Given the description of an element on the screen output the (x, y) to click on. 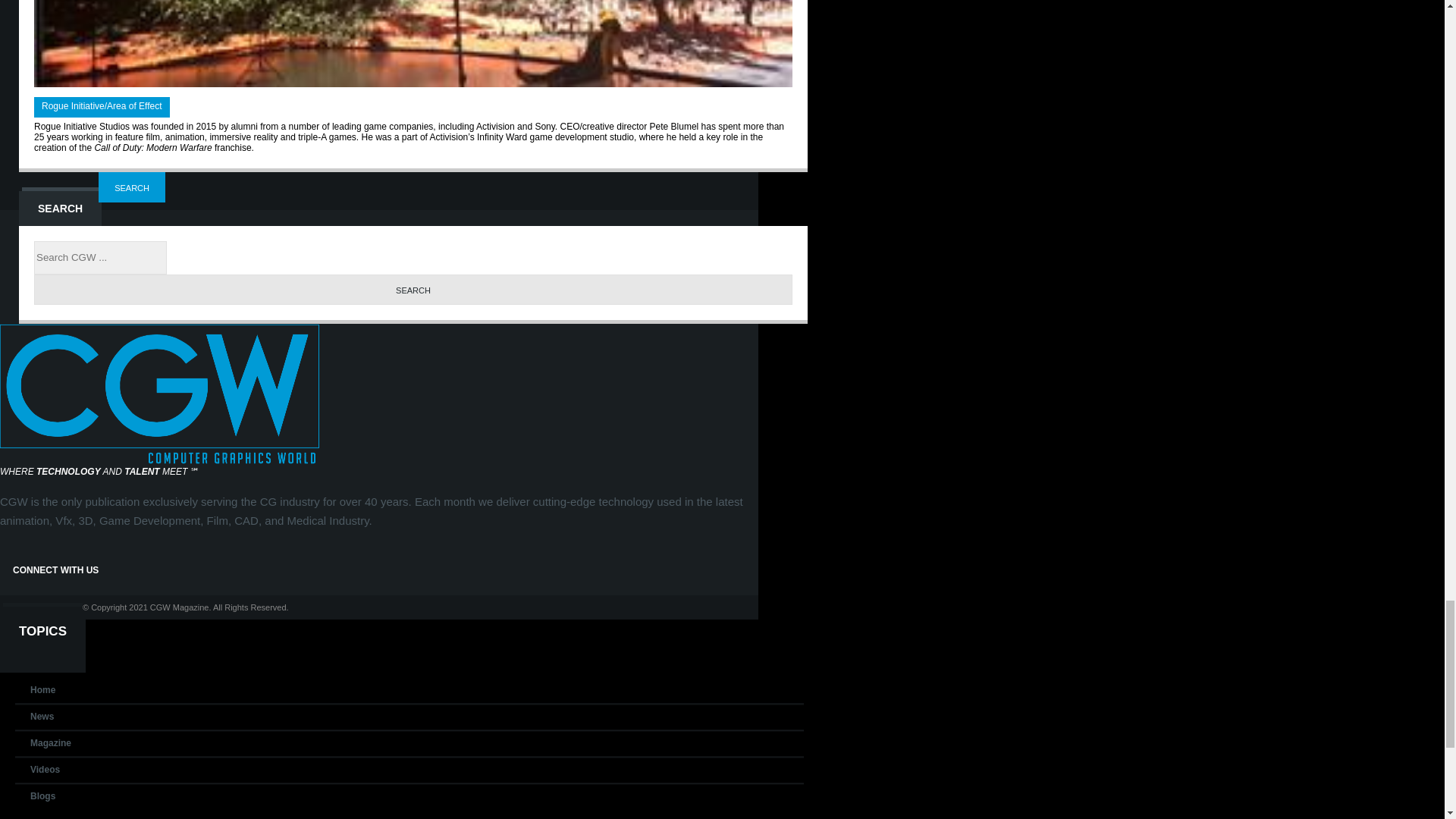
Search (132, 186)
Search (412, 289)
